Given the description of an element on the screen output the (x, y) to click on. 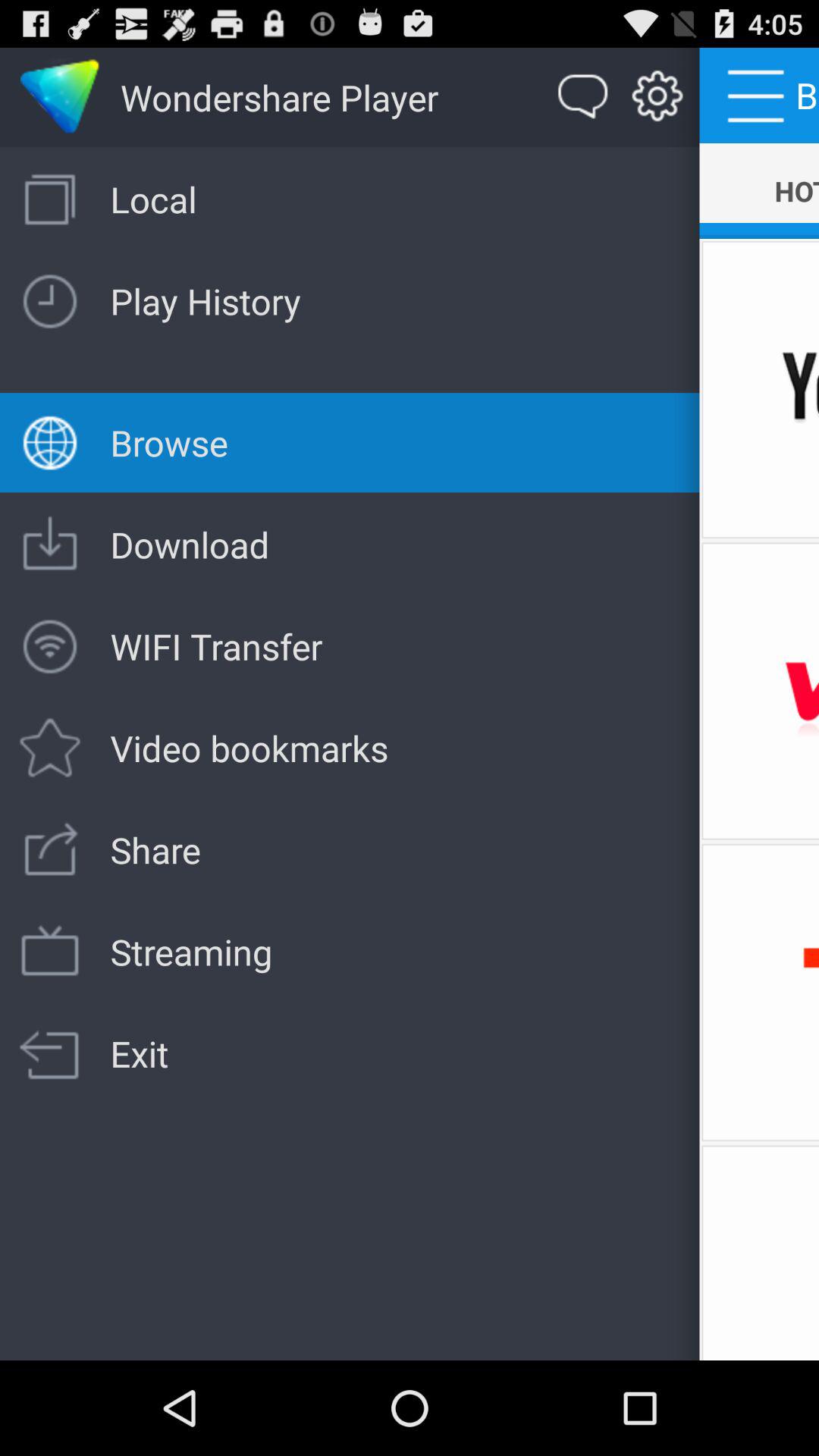
click the item to the left of the hot icon (657, 97)
